Given the description of an element on the screen output the (x, y) to click on. 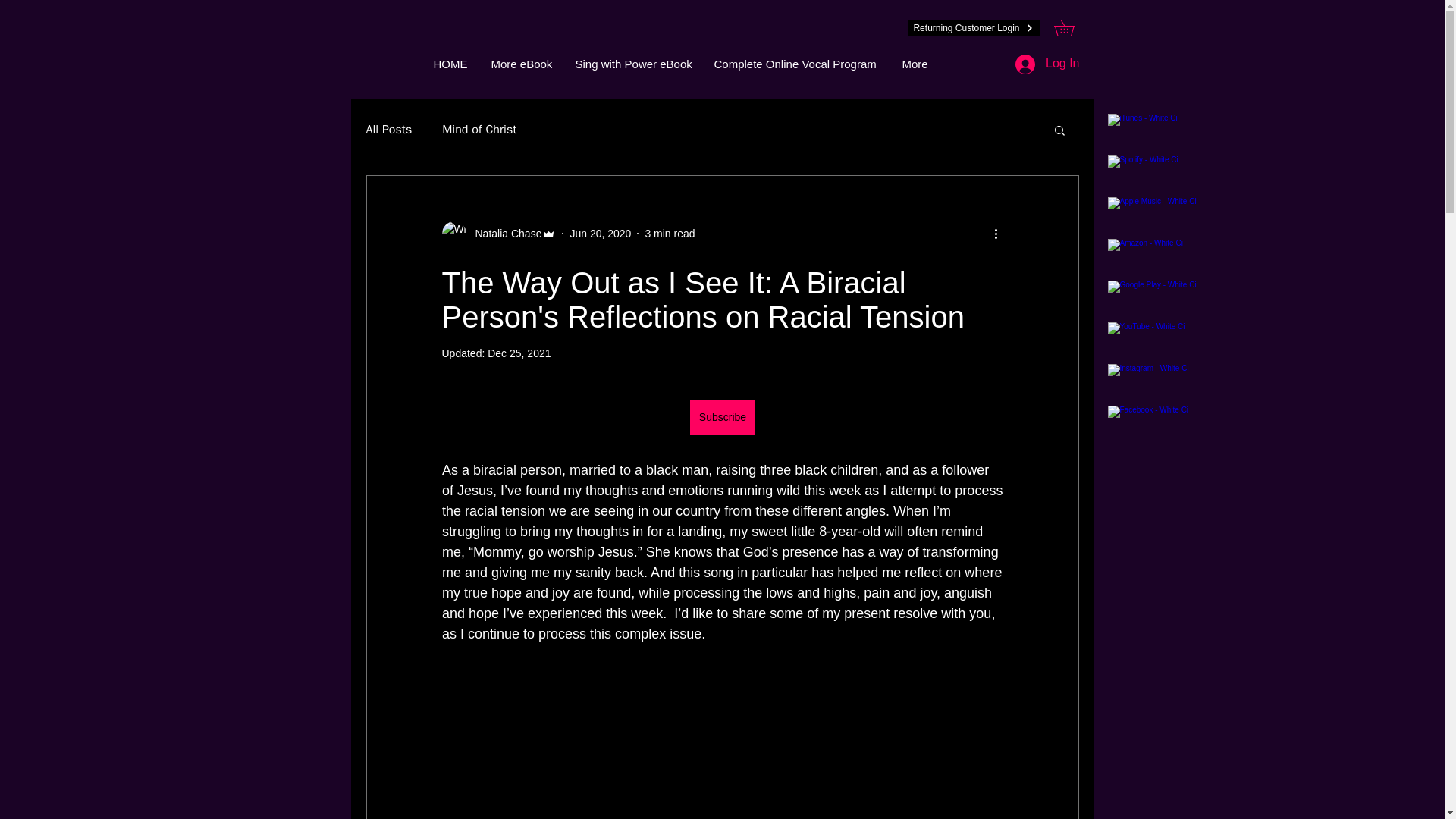
Natalia Chase (498, 233)
Jun 20, 2020 (599, 233)
Sing with Power eBook (633, 64)
Natalia Chase (503, 233)
Complete Online Vocal Program (795, 64)
More eBook (521, 64)
HOME (450, 64)
Dec 25, 2021 (518, 353)
3 min read (669, 233)
Mind of Christ (479, 130)
All Posts (388, 130)
Returning Customer Login (973, 27)
Log In (1046, 63)
